Given the description of an element on the screen output the (x, y) to click on. 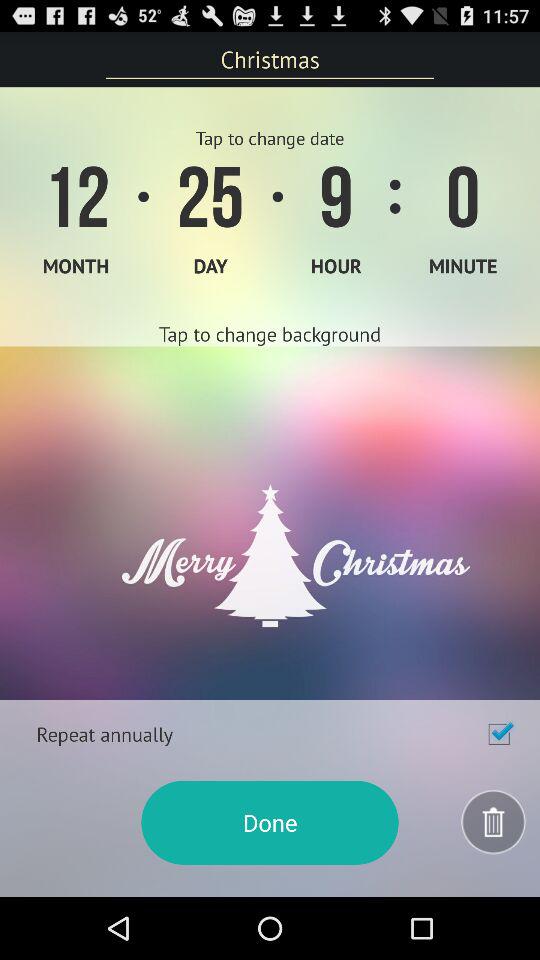
tap the icon at the bottom (269, 822)
